Given the description of an element on the screen output the (x, y) to click on. 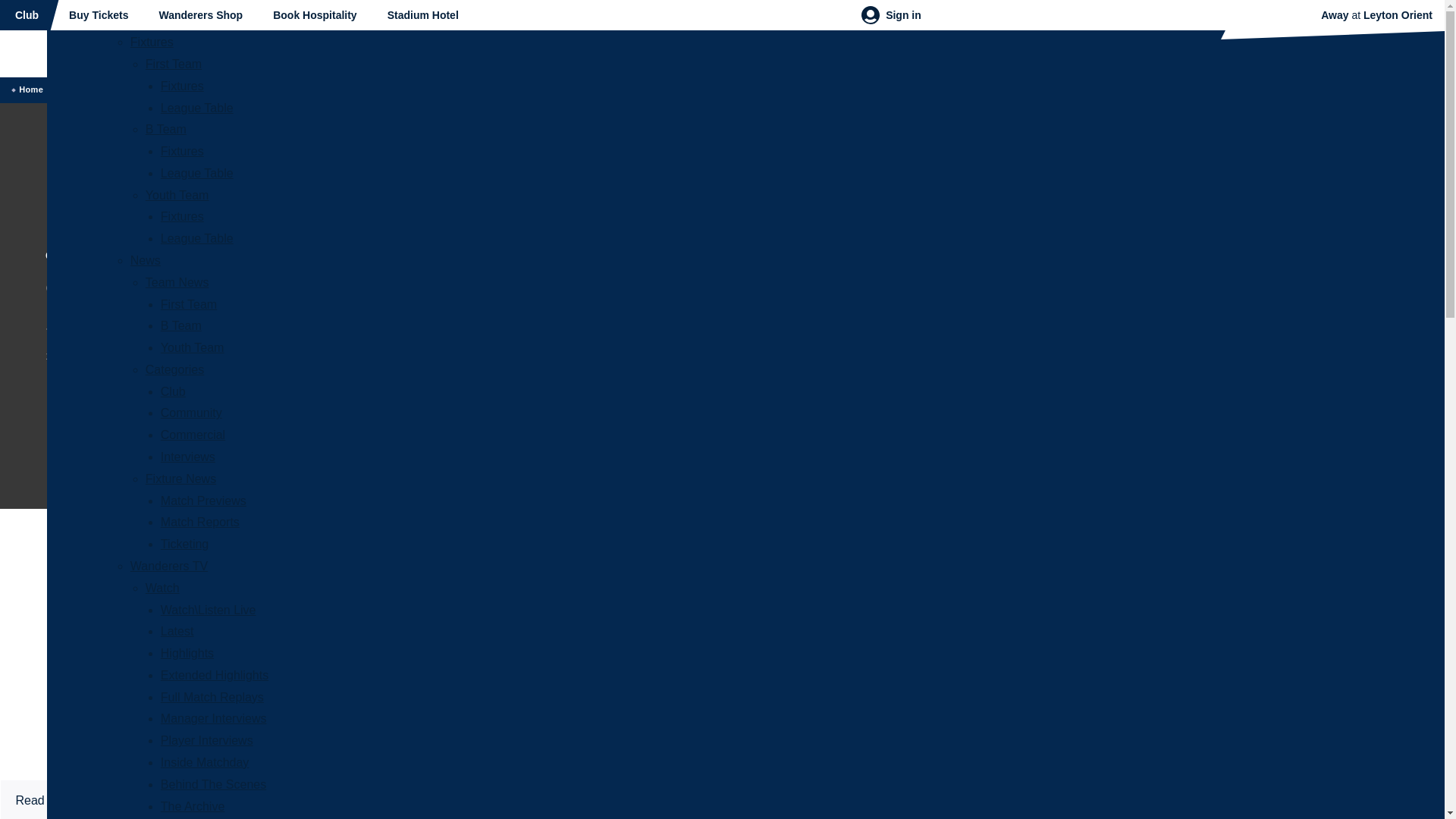
League Table (196, 173)
B Team (181, 325)
Fixtures (181, 215)
First Team (173, 63)
News (145, 259)
Match Previews (203, 500)
Club (173, 391)
Fixtures (152, 42)
Youth Team (177, 195)
League Table (196, 107)
Book Hospitality (314, 15)
Interviews (187, 456)
Wanderers TV (169, 565)
Fixtures (181, 215)
